Given the description of an element on the screen output the (x, y) to click on. 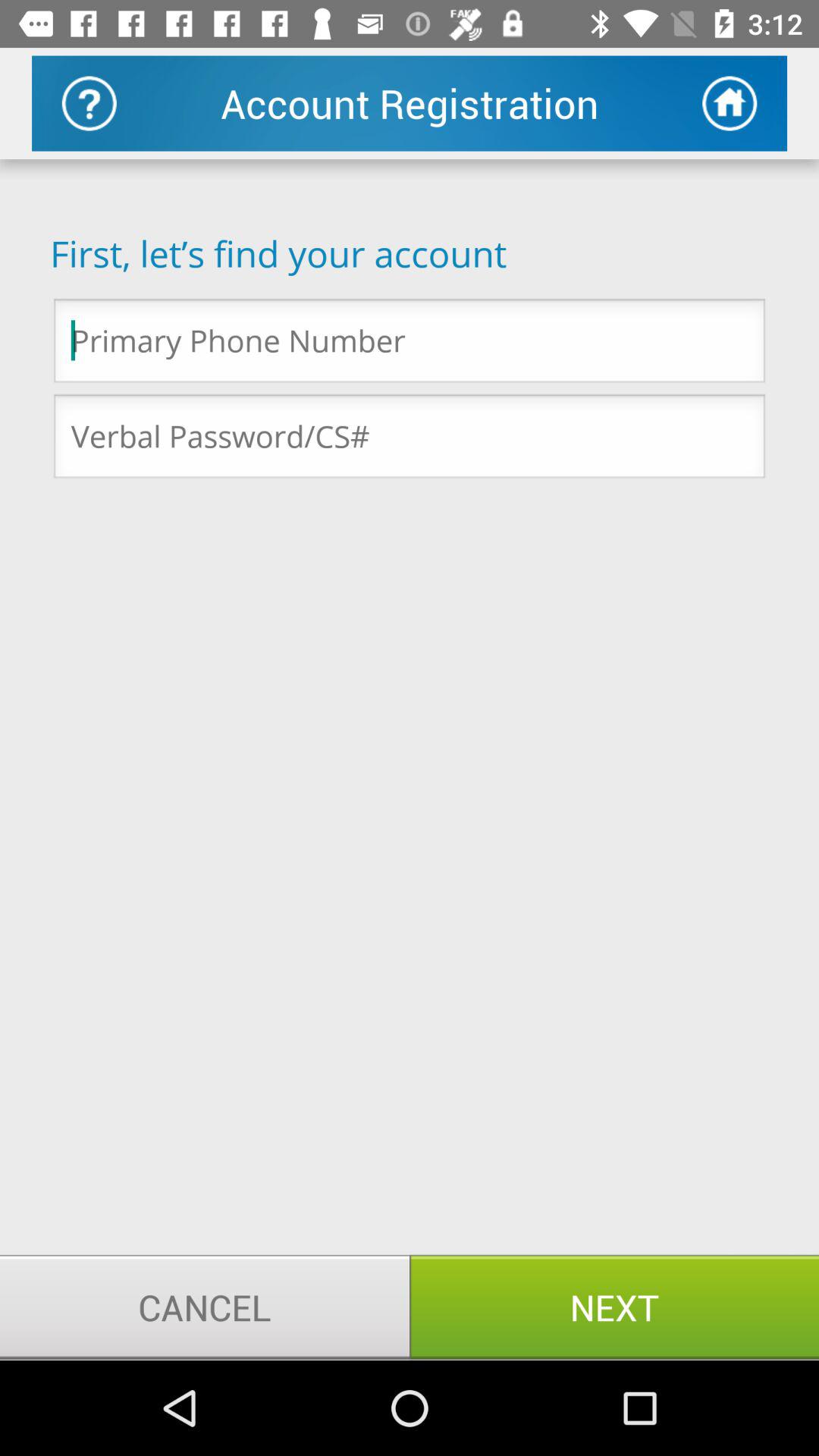
scroll until the cancel item (204, 1307)
